Given the description of an element on the screen output the (x, y) to click on. 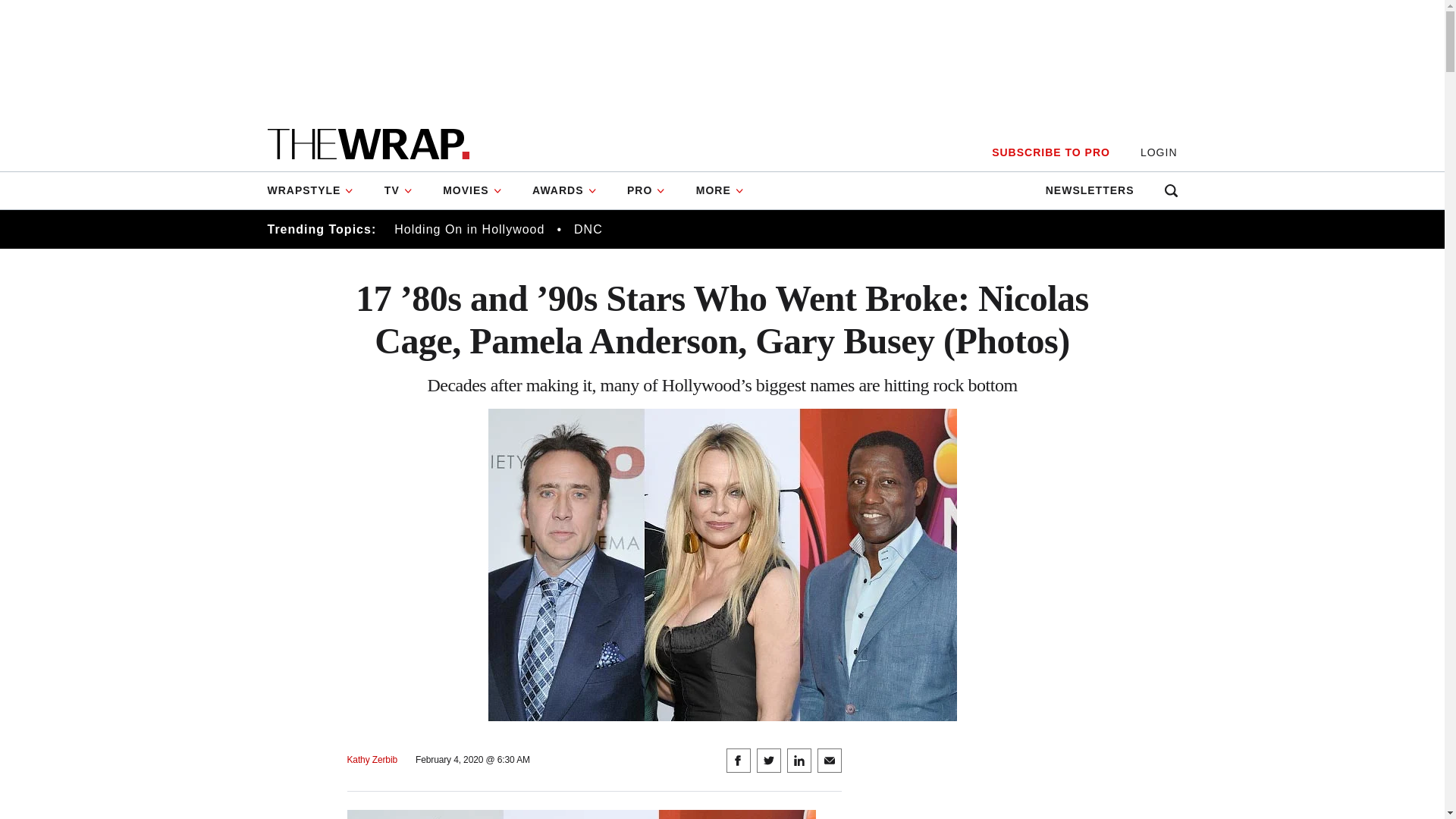
PRO (646, 190)
SUBSCRIBE TO PRO (1050, 152)
MORE (719, 190)
LOGIN (1158, 152)
AWARDS (563, 190)
Posts by Kathy Zerbib (372, 759)
TV (398, 190)
MOVIES (472, 190)
WRAPSTYLE (317, 190)
